Given the description of an element on the screen output the (x, y) to click on. 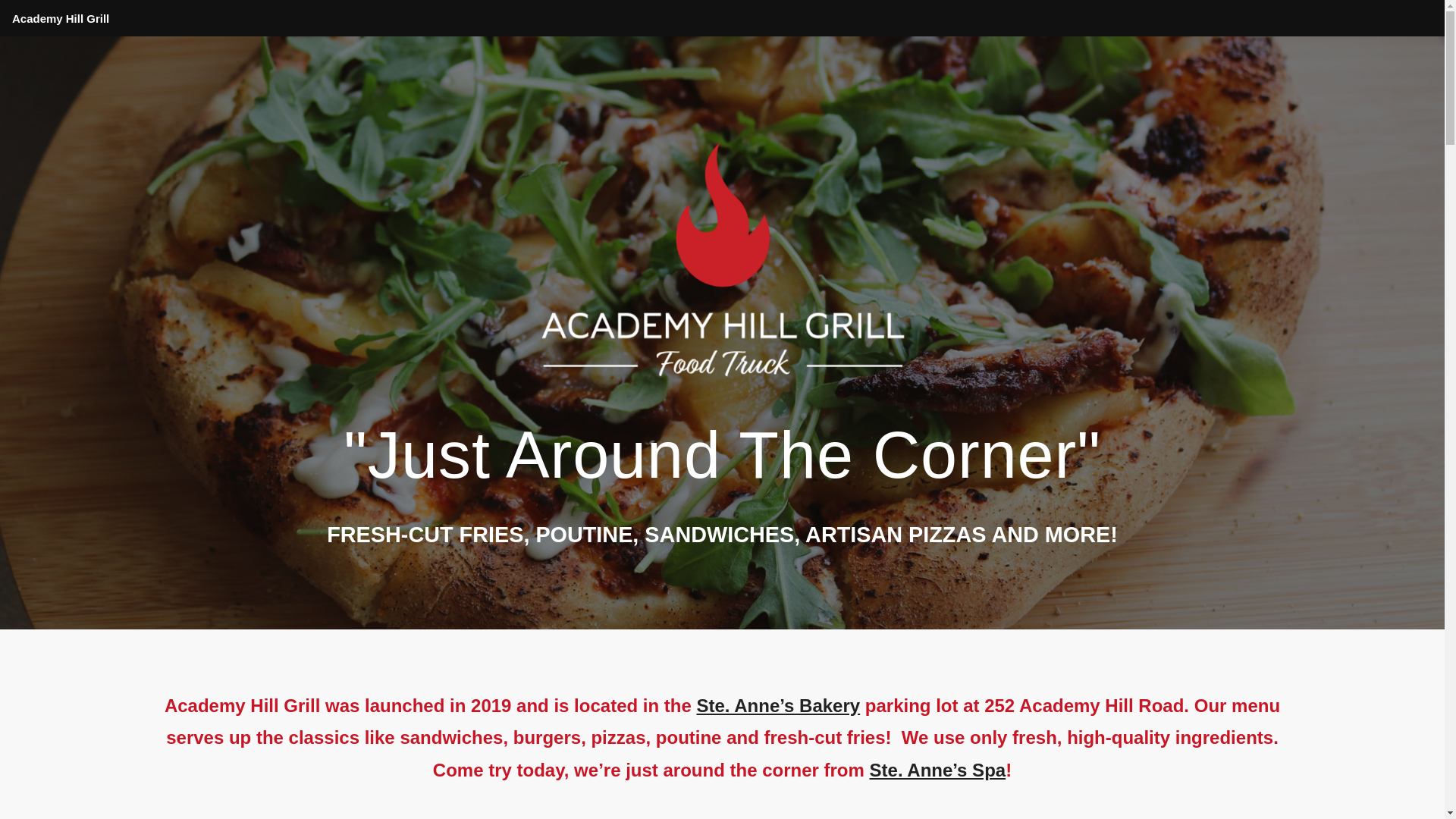
Academy Hill Grill Element type: text (60, 18)
